Given the description of an element on the screen output the (x, y) to click on. 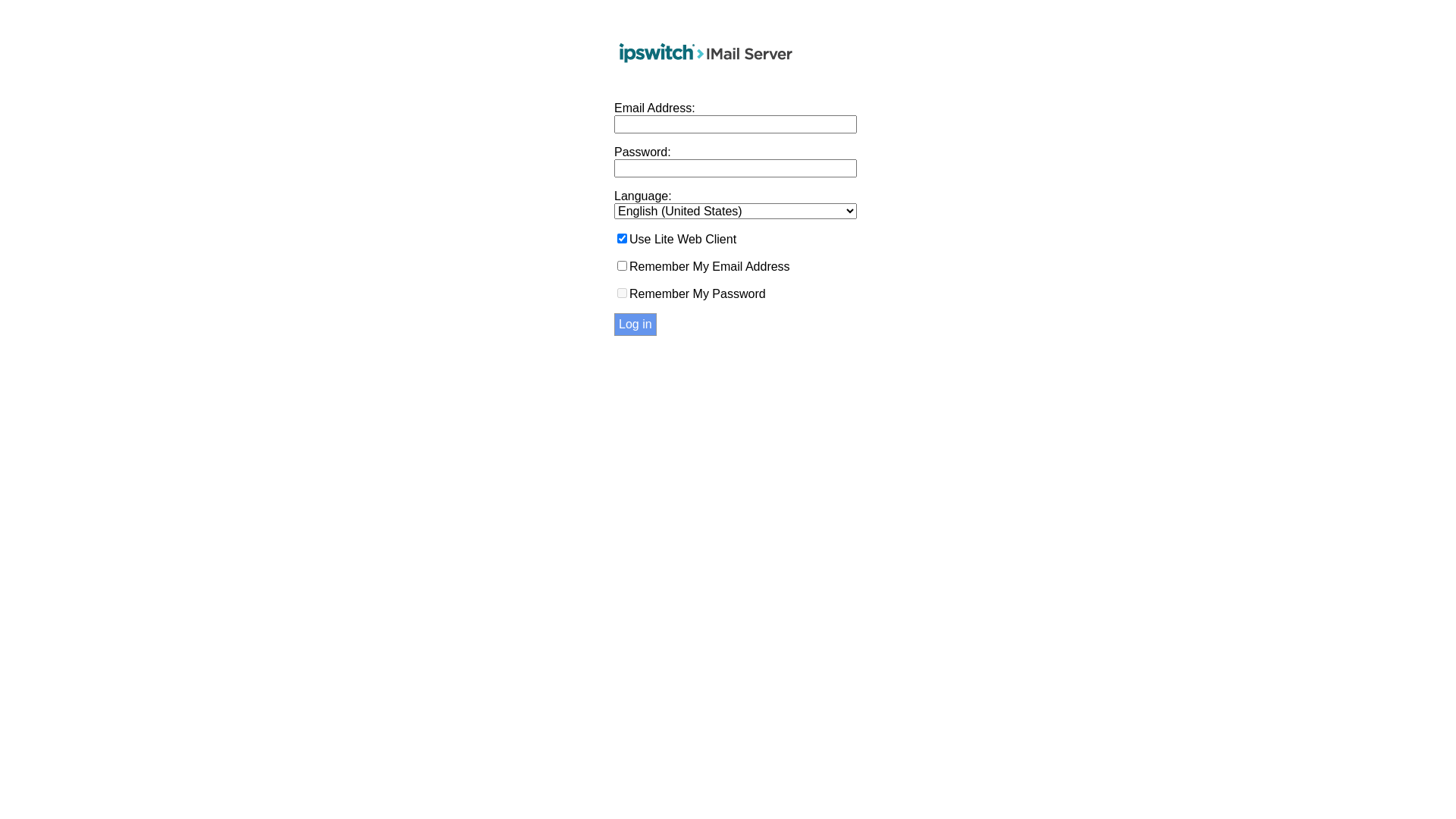
Log in Element type: text (635, 324)
on Element type: text (622, 265)
on Element type: text (622, 238)
on Element type: text (622, 293)
